Given the description of an element on the screen output the (x, y) to click on. 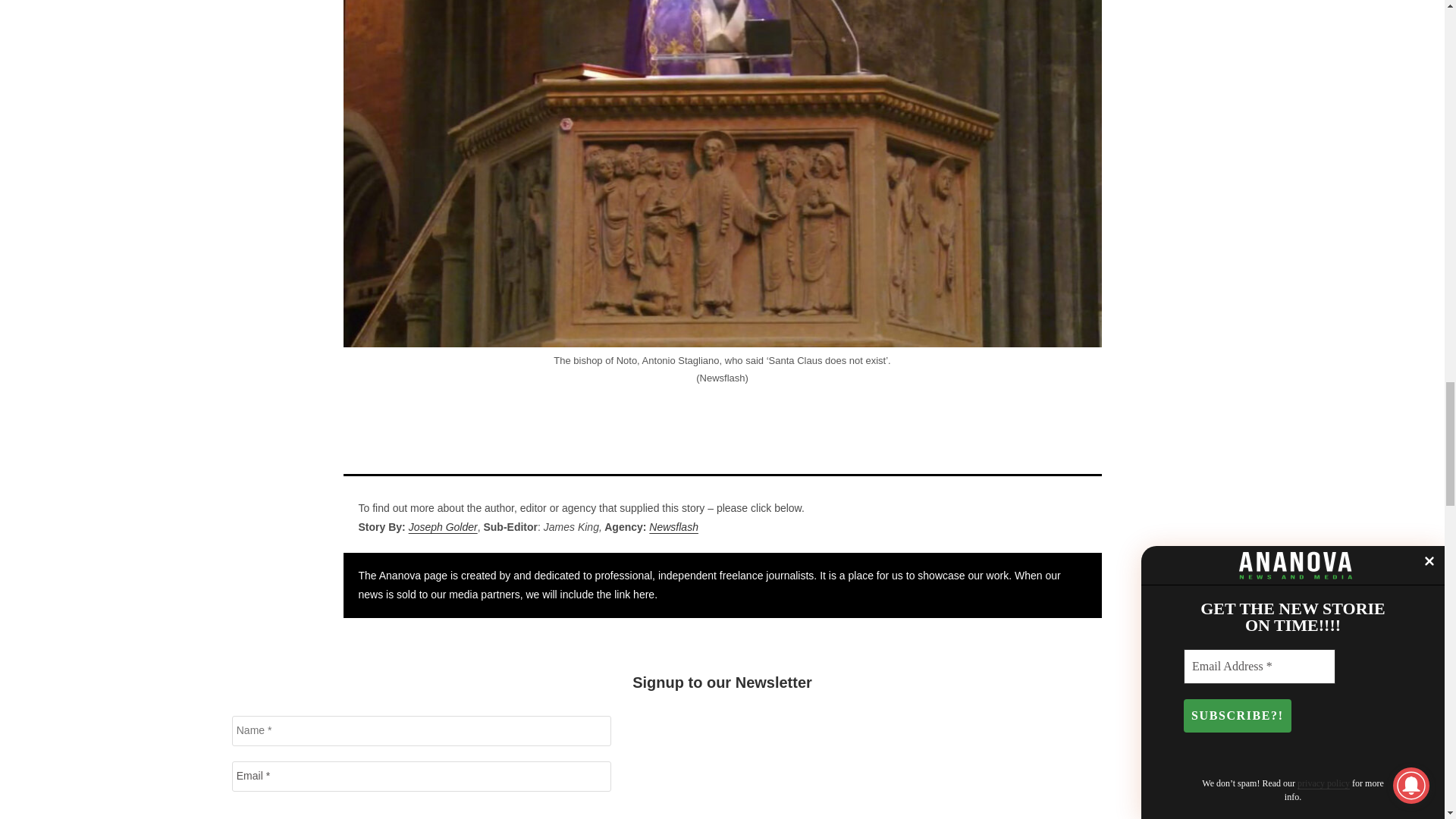
Name (421, 730)
Email (421, 776)
